Given the description of an element on the screen output the (x, y) to click on. 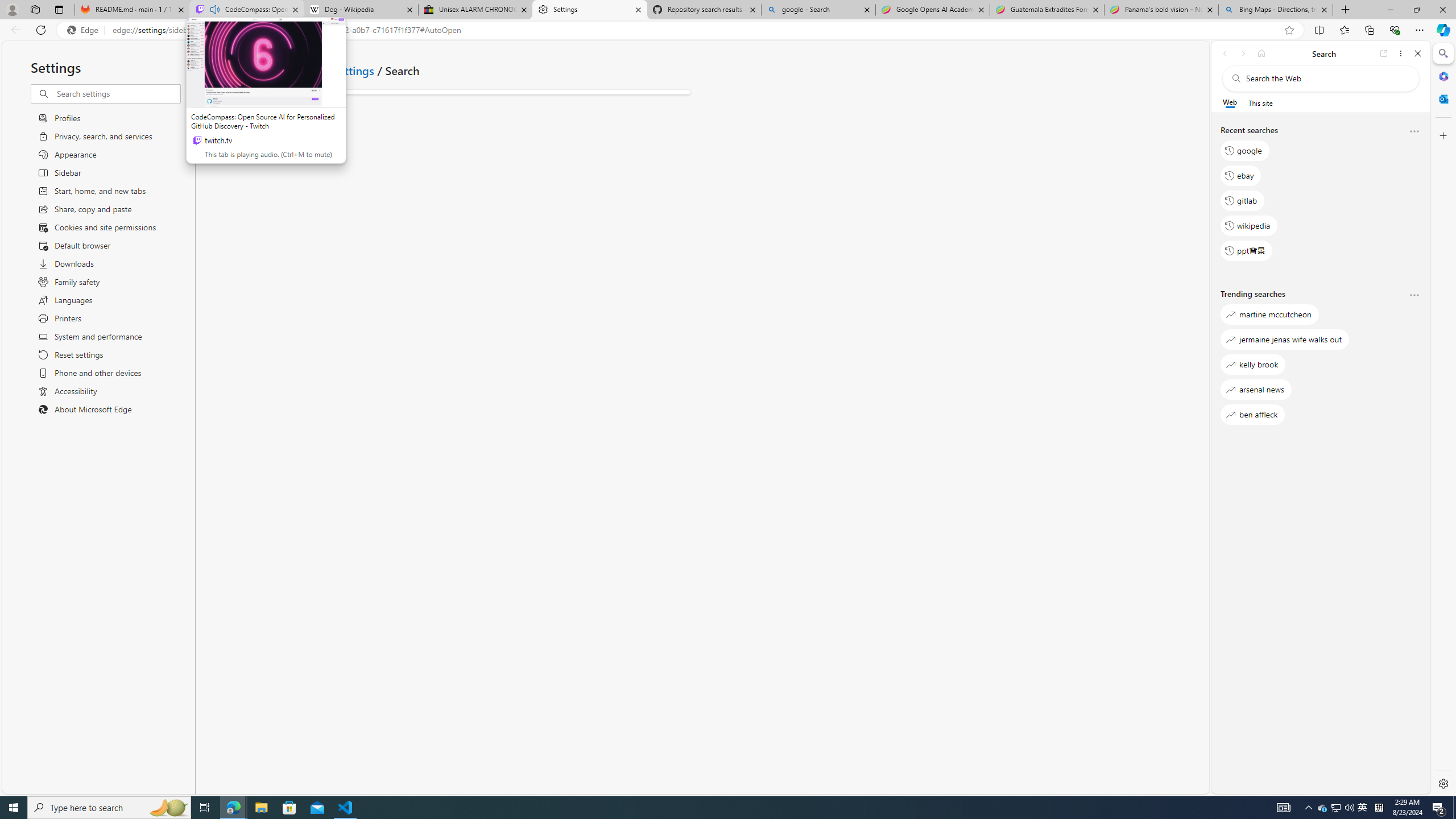
Google Opens AI Academy for Startups - Nearshore Americas (932, 9)
gitlab (1242, 200)
Web scope (1230, 102)
Search the web (1326, 78)
